Given the description of an element on the screen output the (x, y) to click on. 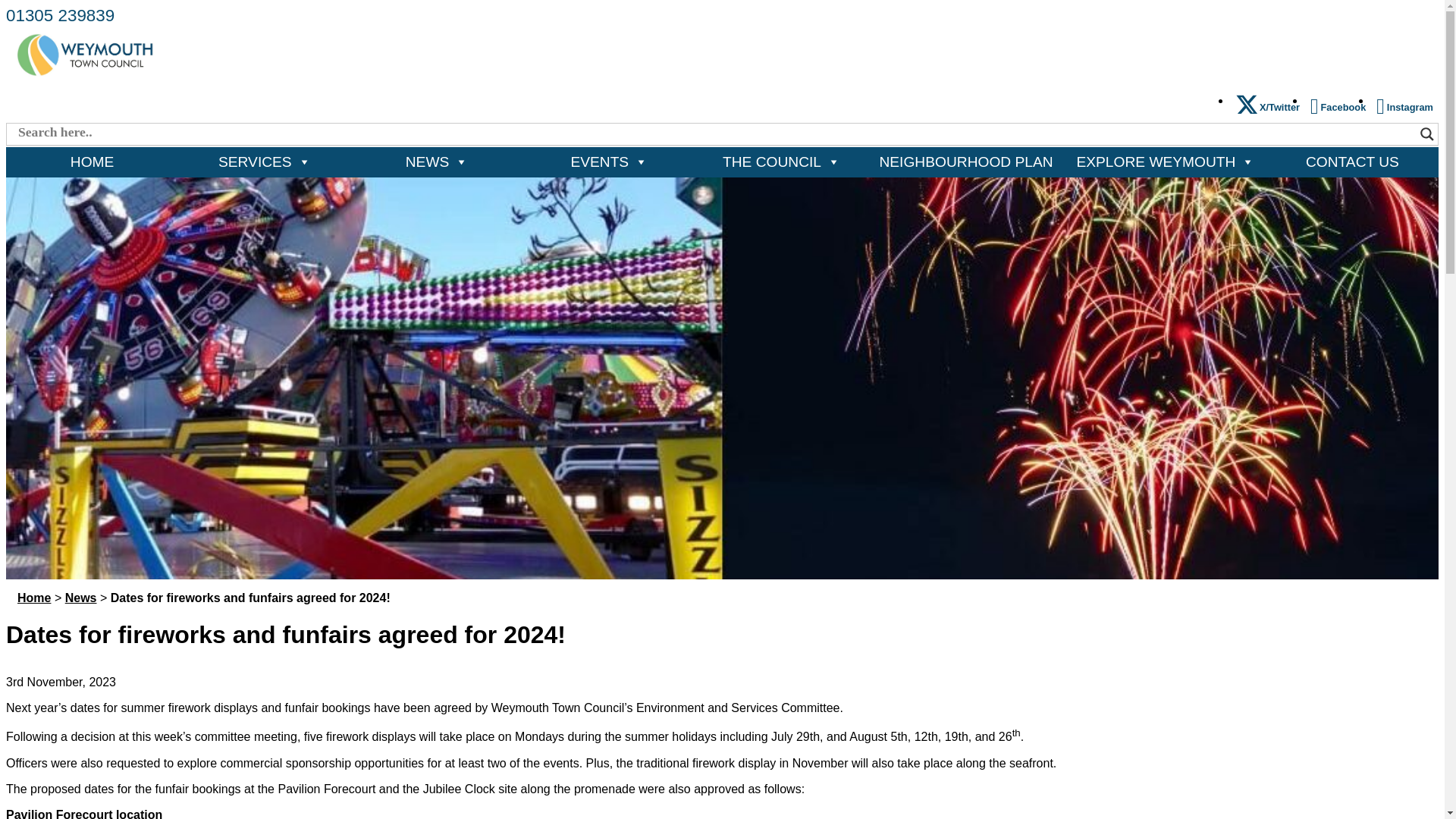
THE COUNCIL (781, 162)
HOME (91, 162)
SERVICES (263, 162)
NEWS (436, 162)
Facebook (1337, 106)
EVENTS (608, 162)
NEIGHBOURHOOD PLAN (965, 162)
